Given the description of an element on the screen output the (x, y) to click on. 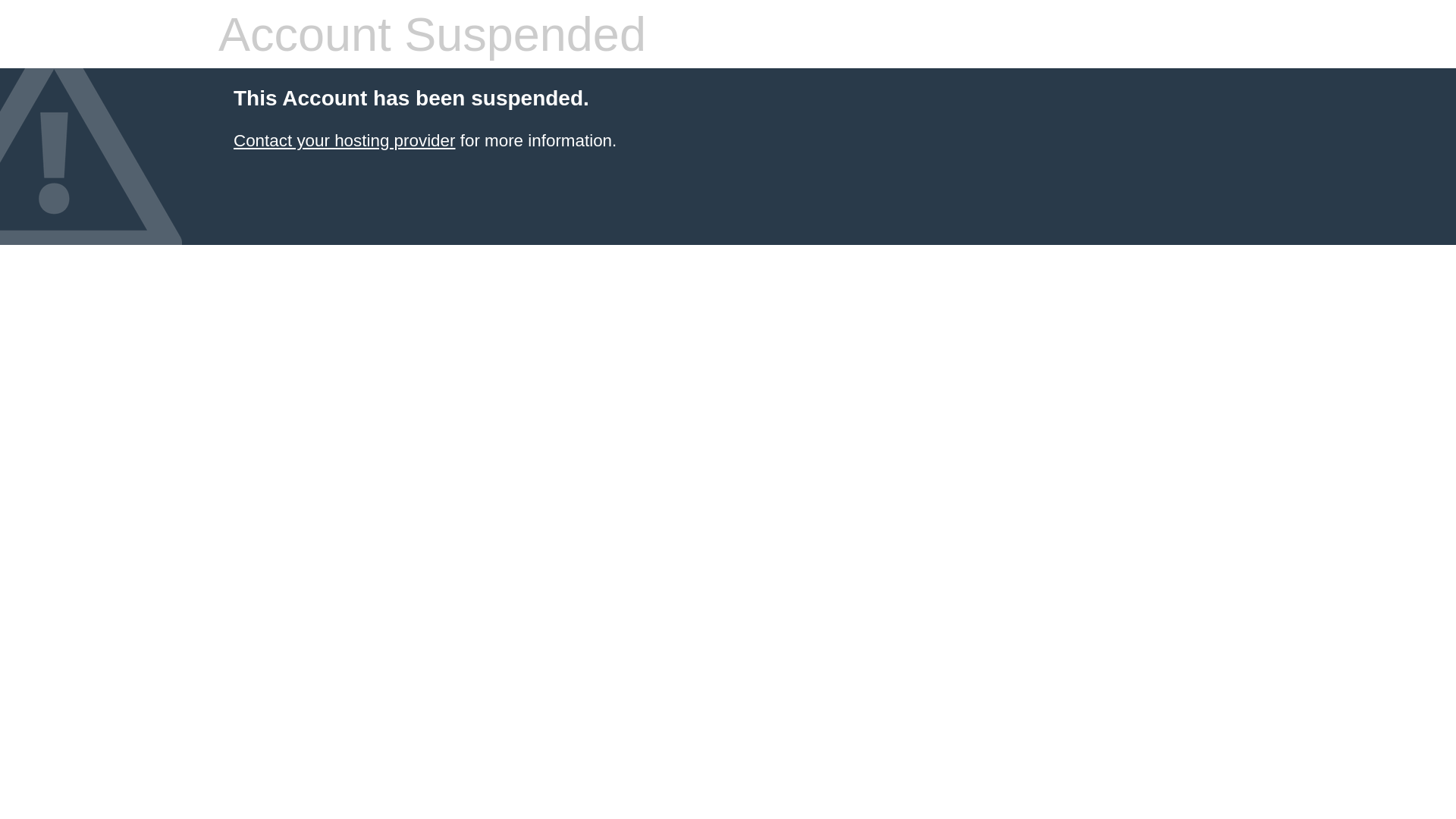
Contact your hosting provider Element type: text (344, 140)
